Given the description of an element on the screen output the (x, y) to click on. 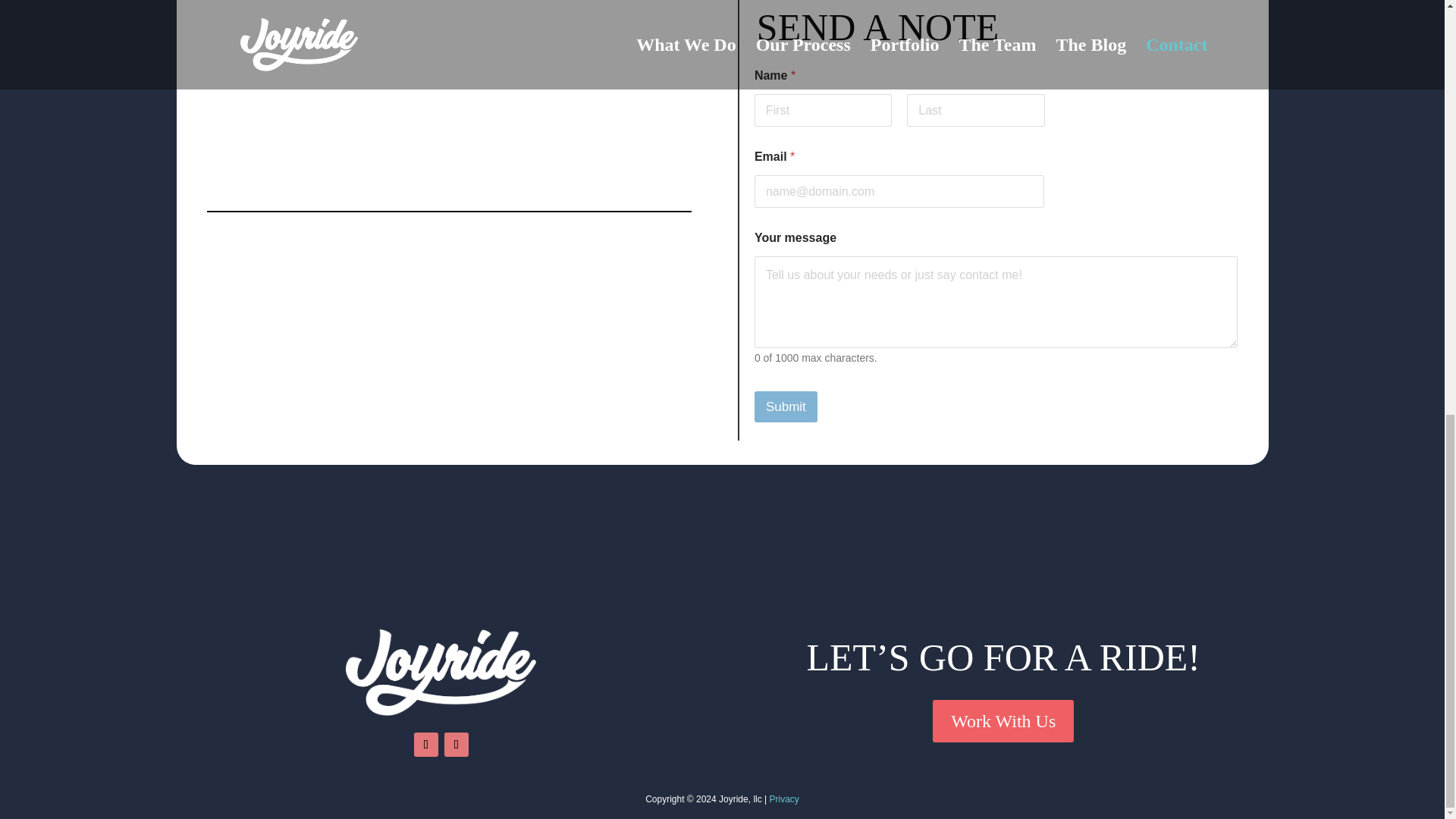
Follow on LinkedIn (425, 744)
TidyCal (448, 94)
Submit (785, 406)
Follow on Instagram (456, 744)
Logo-Transparent-WHT (440, 672)
Privacy (784, 798)
Work With Us (1003, 721)
